Given the description of an element on the screen output the (x, y) to click on. 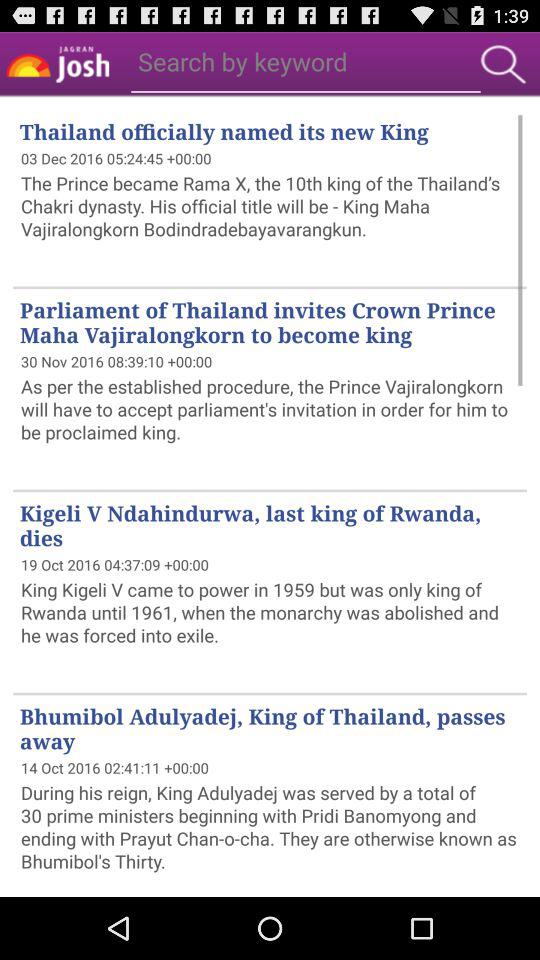
searches with the text in the bar (503, 64)
